Given the description of an element on the screen output the (x, y) to click on. 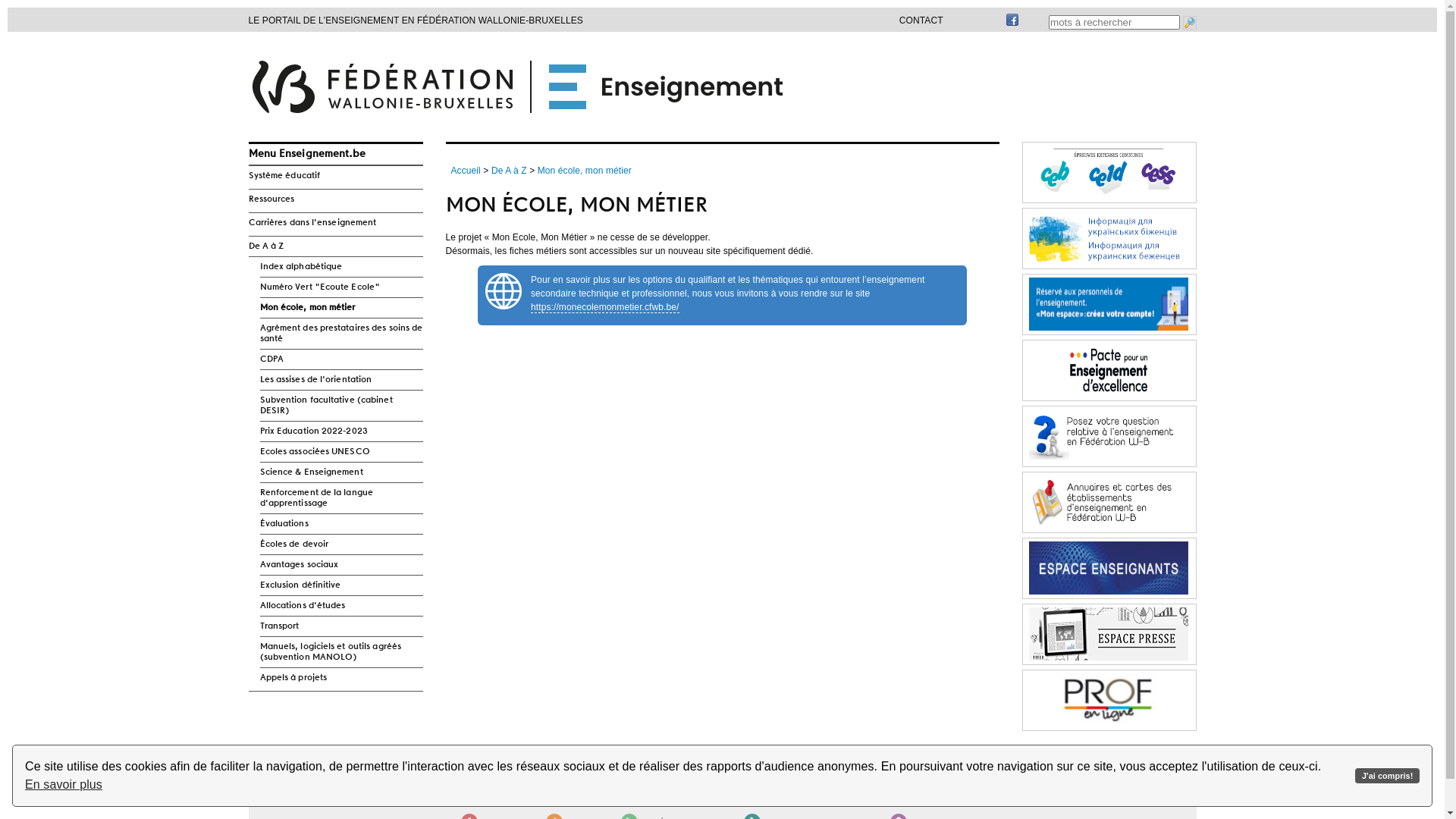
CDPA Element type: text (340, 359)
Presse Element type: text (479, 802)
Ressources Element type: text (335, 199)
https://monecolemonmetier.cfwb.be/ Element type: text (604, 307)
lien vers la page espace enseignant                   Element type: hover (1108, 568)
Accueil Element type: text (465, 170)
lien vers la page du magazine PROF                    Element type: hover (1108, 700)
vers la page facebook du site Element type: hover (1012, 23)
A propos de la FW-B Element type: text (595, 787)
Transport Element type: text (340, 626)
En savoir plus Element type: text (63, 784)
Avantages sociaux Element type: text (340, 564)
lien vers le site FAQ+                                Element type: hover (1108, 436)
CONTACT Element type: text (921, 20)
J'ai compris! Element type: text (1387, 776)
Renforcement de la langue d'apprentissage Element type: text (340, 498)
Plan du site Element type: text (489, 787)
Science & Enseignement Element type: text (340, 472)
Subvention facultative (cabinet DESIR) Element type: text (340, 405)
lien vers la page des communiques de presse           Element type: hover (1108, 634)
Contacter la FW-B : infos@cfwb.be
0800-20.000 Element type: text (744, 782)
Les assises de l'orientation Element type: text (340, 379)
lien vers la page des annuaires scolaires             Element type: hover (1108, 502)
Gestionnaire du site Element type: text (895, 776)
lien vers le portail de la FWB Element type: hover (343, 805)
Prix Education 2022-2023 Element type: text (340, 431)
lien vers le site du pacte d'excellence               Element type: hover (1108, 370)
lien vers le site Mon Espace                          Element type: hover (1108, 304)
